Given the description of an element on the screen output the (x, y) to click on. 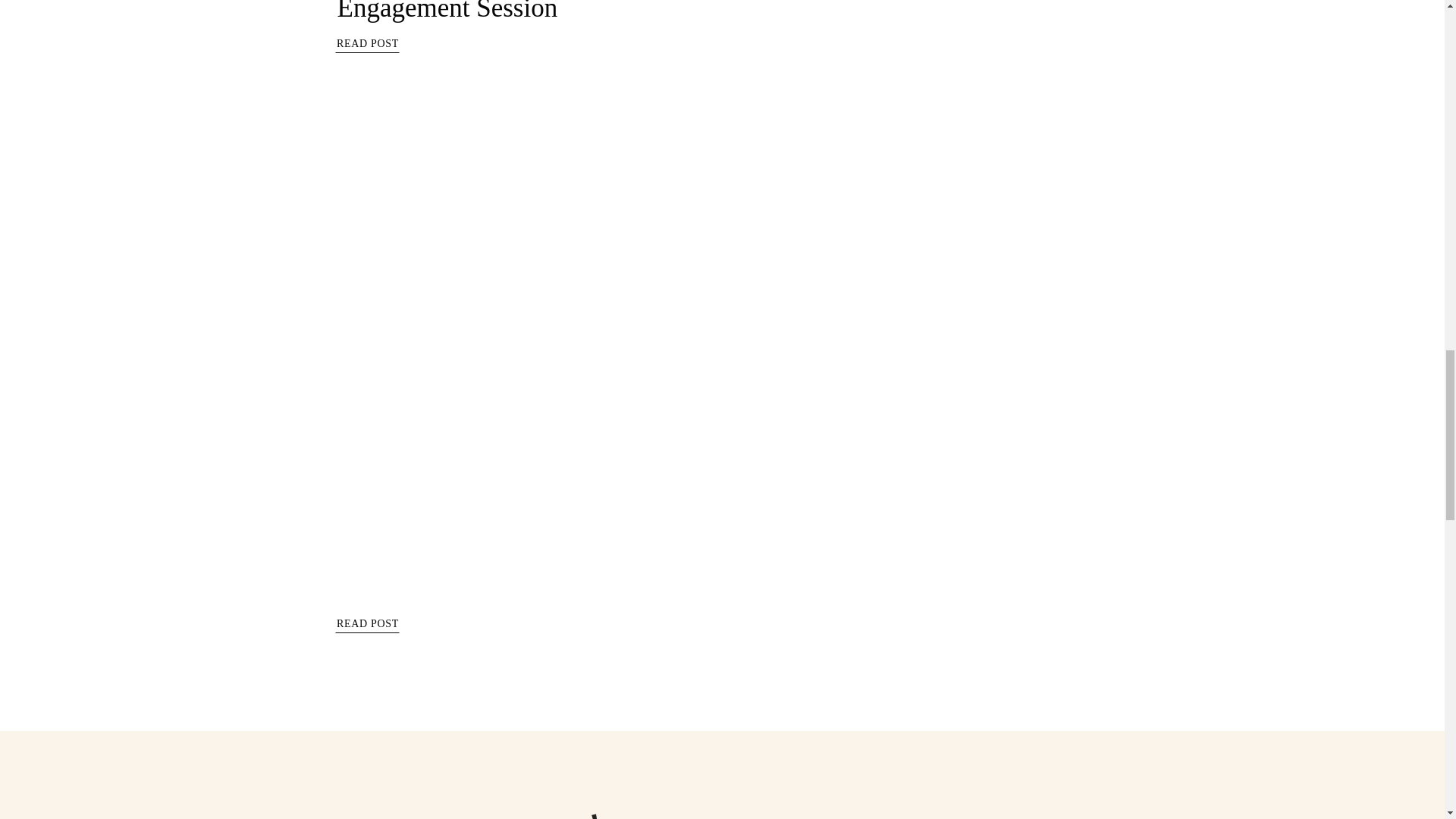
READ POST (366, 626)
READ POST (366, 45)
